Given the description of an element on the screen output the (x, y) to click on. 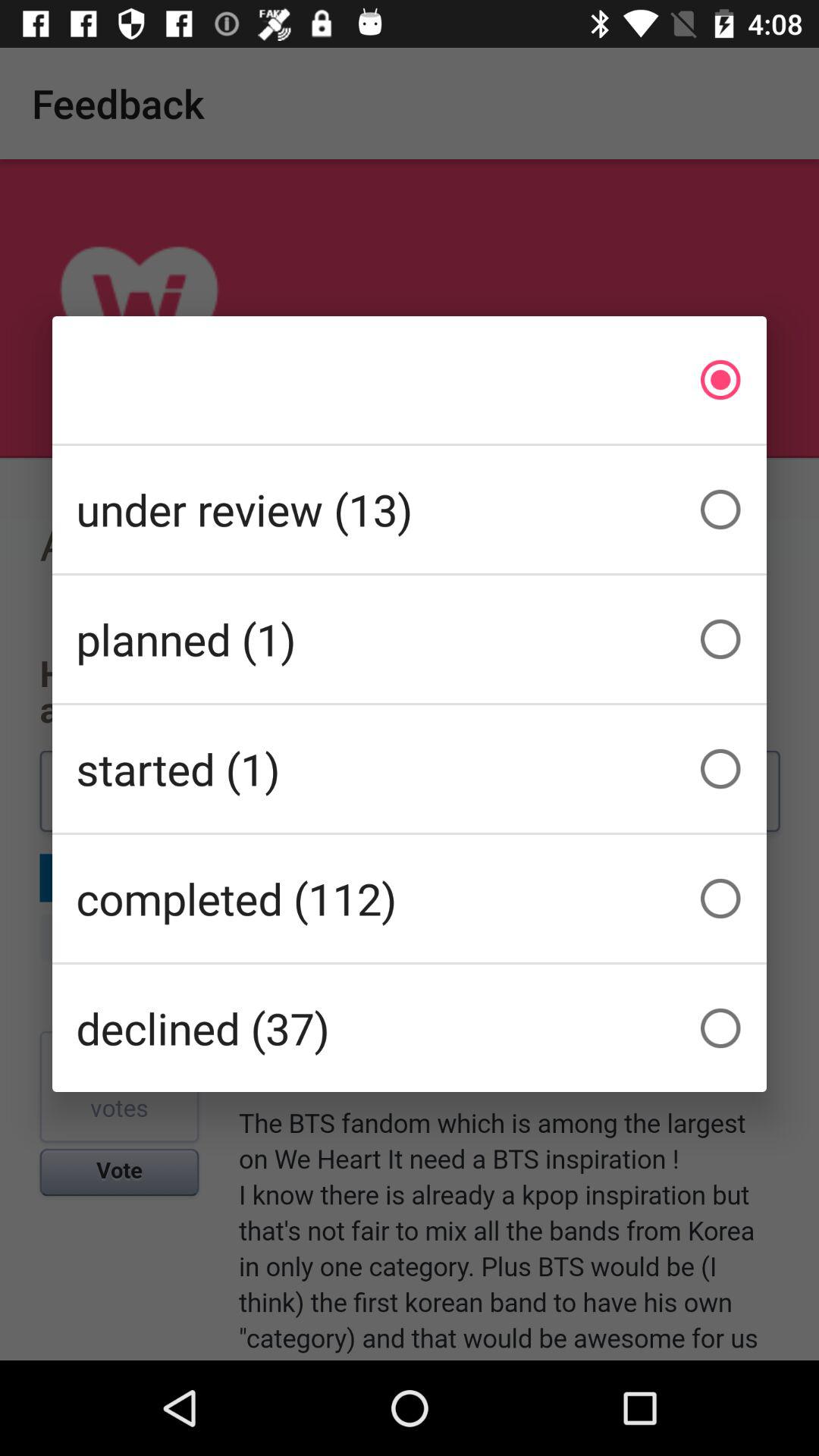
choose planned (1) item (409, 638)
